Given the description of an element on the screen output the (x, y) to click on. 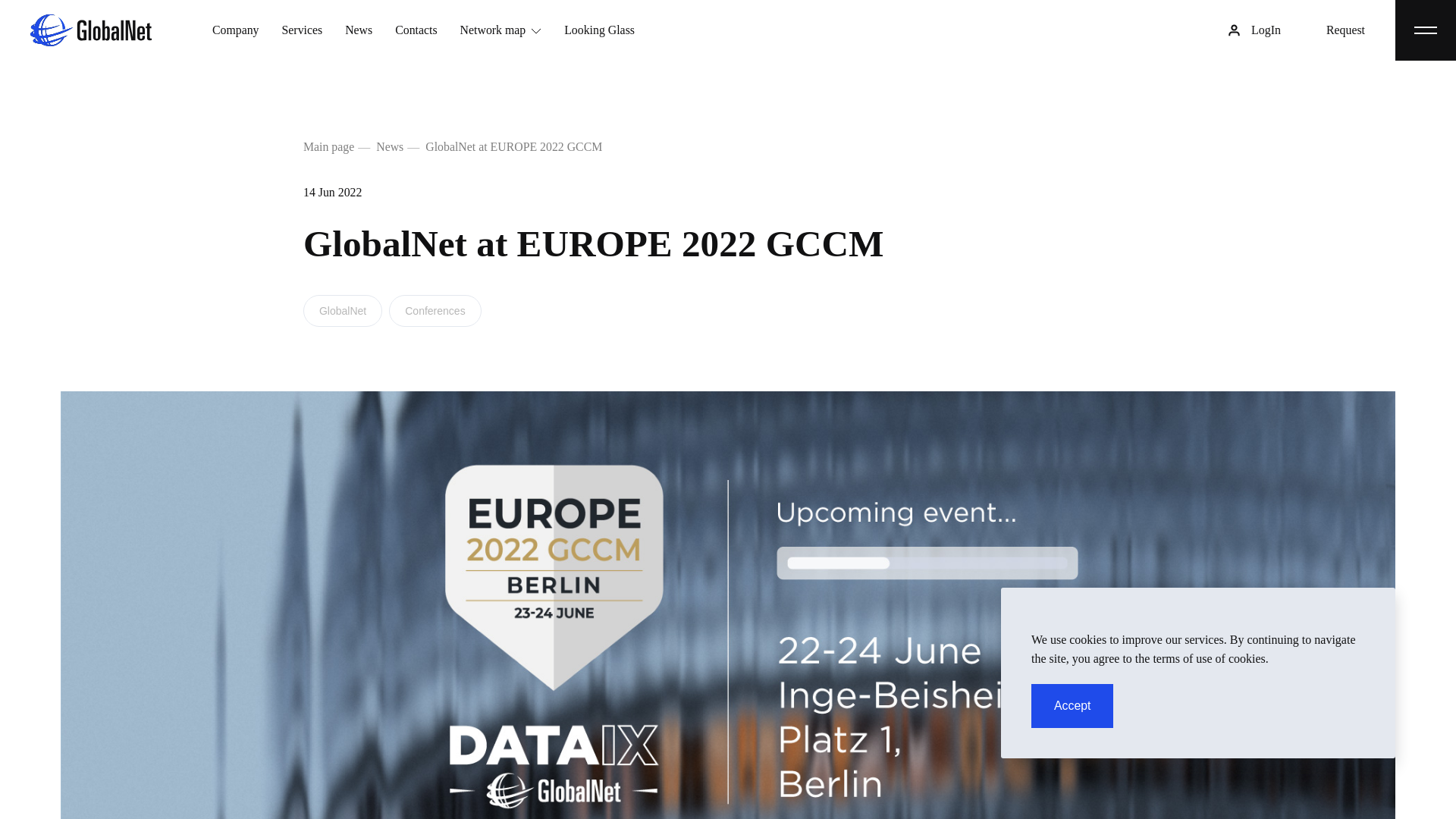
Company (235, 29)
Contacts (415, 29)
LogIn (1265, 29)
GlobalNet at EUROPE 2022 GCCM (513, 146)
News (358, 29)
Services (302, 29)
Main page (327, 146)
Network map (500, 29)
News (389, 146)
GlobalNet (341, 310)
Accept (1071, 705)
